Given the description of an element on the screen output the (x, y) to click on. 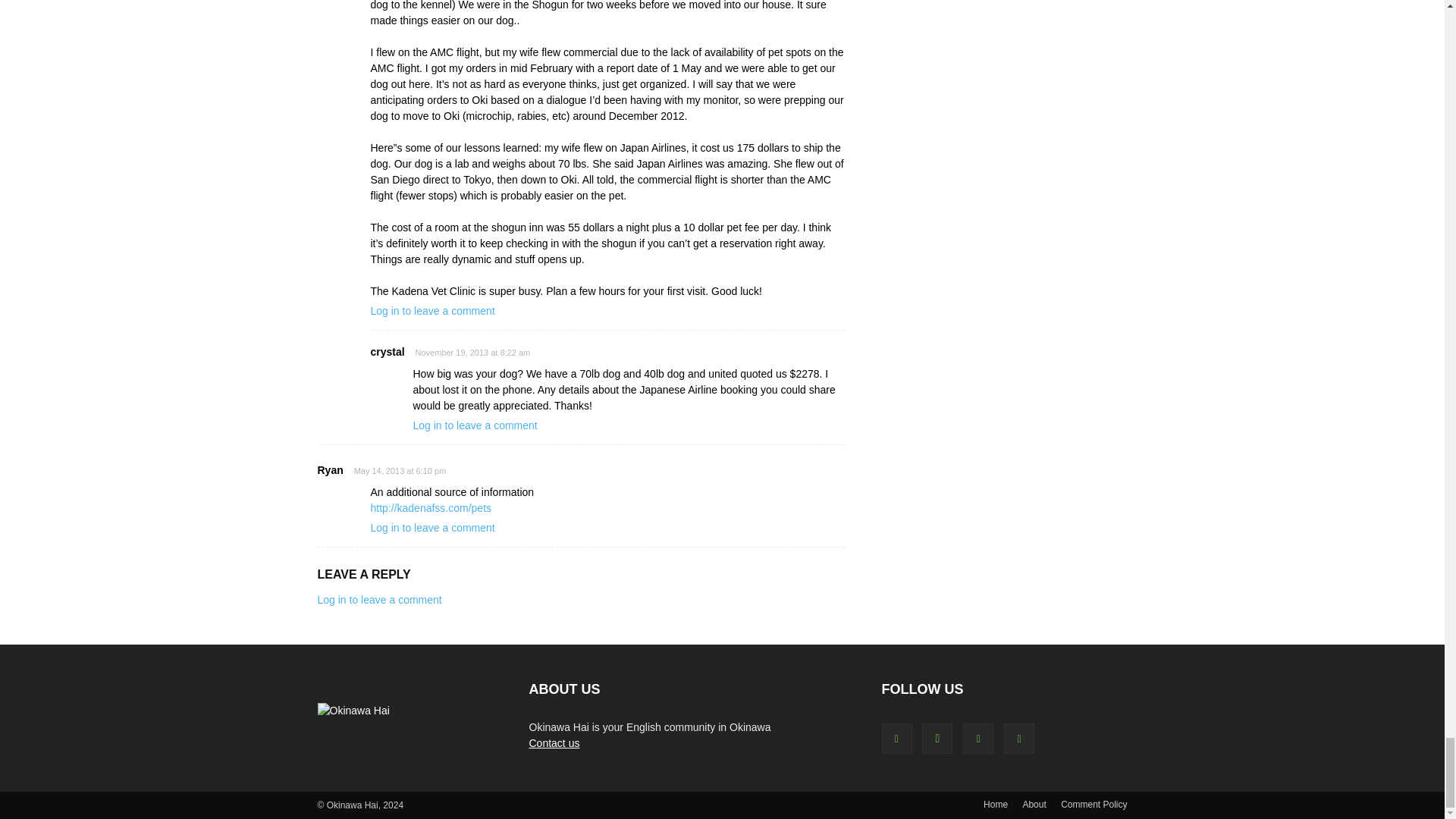
Twitter (977, 738)
Facebook (895, 738)
Instagram (936, 738)
